Given the description of an element on the screen output the (x, y) to click on. 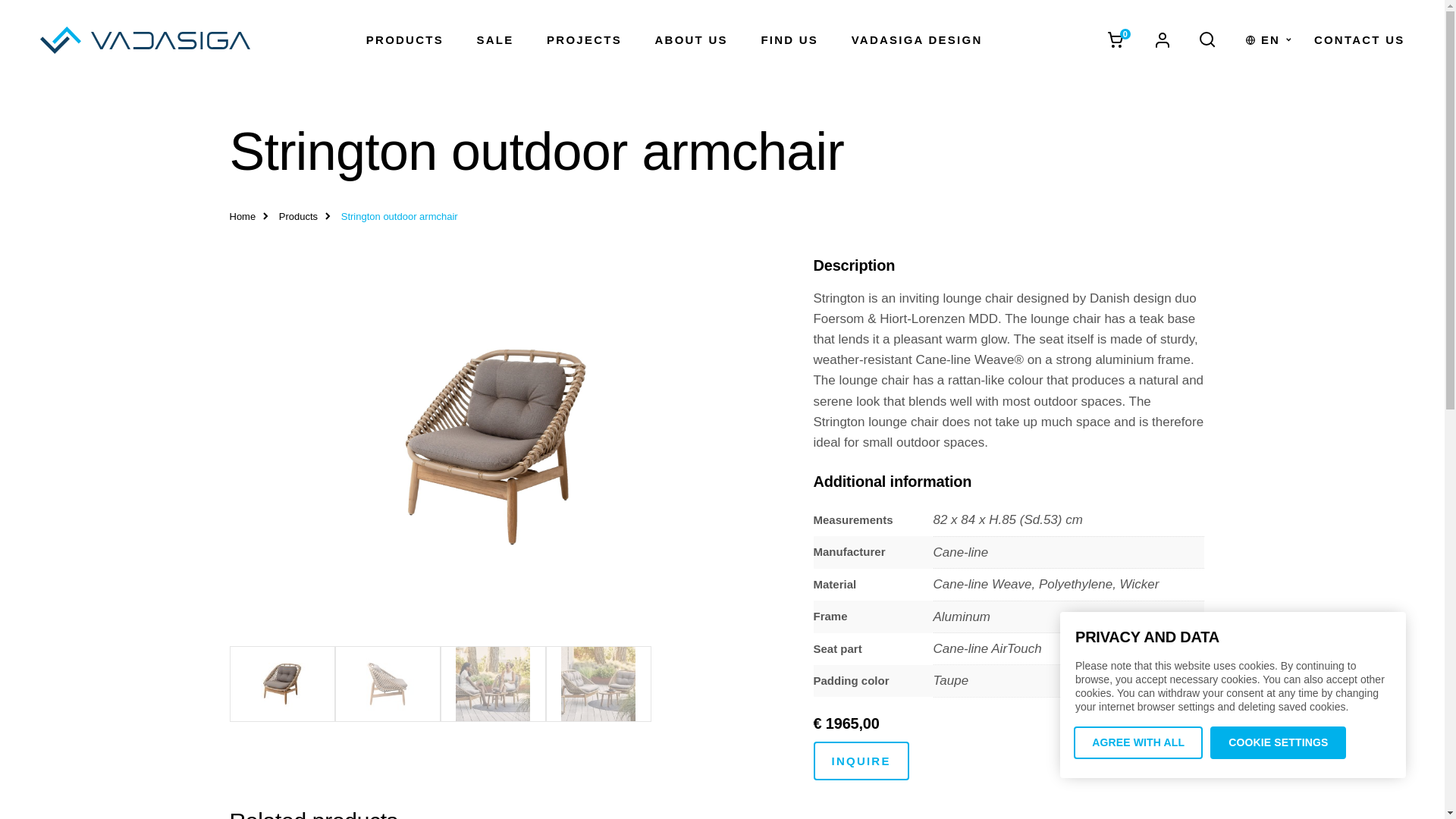
CONTACT US (1359, 39)
PROJECTS (584, 39)
SALE (495, 39)
0 (1115, 39)
ABOUT US (691, 39)
PRODUCTS (405, 39)
VADASIGA DESIGN (916, 39)
EN (1269, 39)
FIND US (789, 39)
Vadasiga (143, 39)
